Given the description of an element on the screen output the (x, y) to click on. 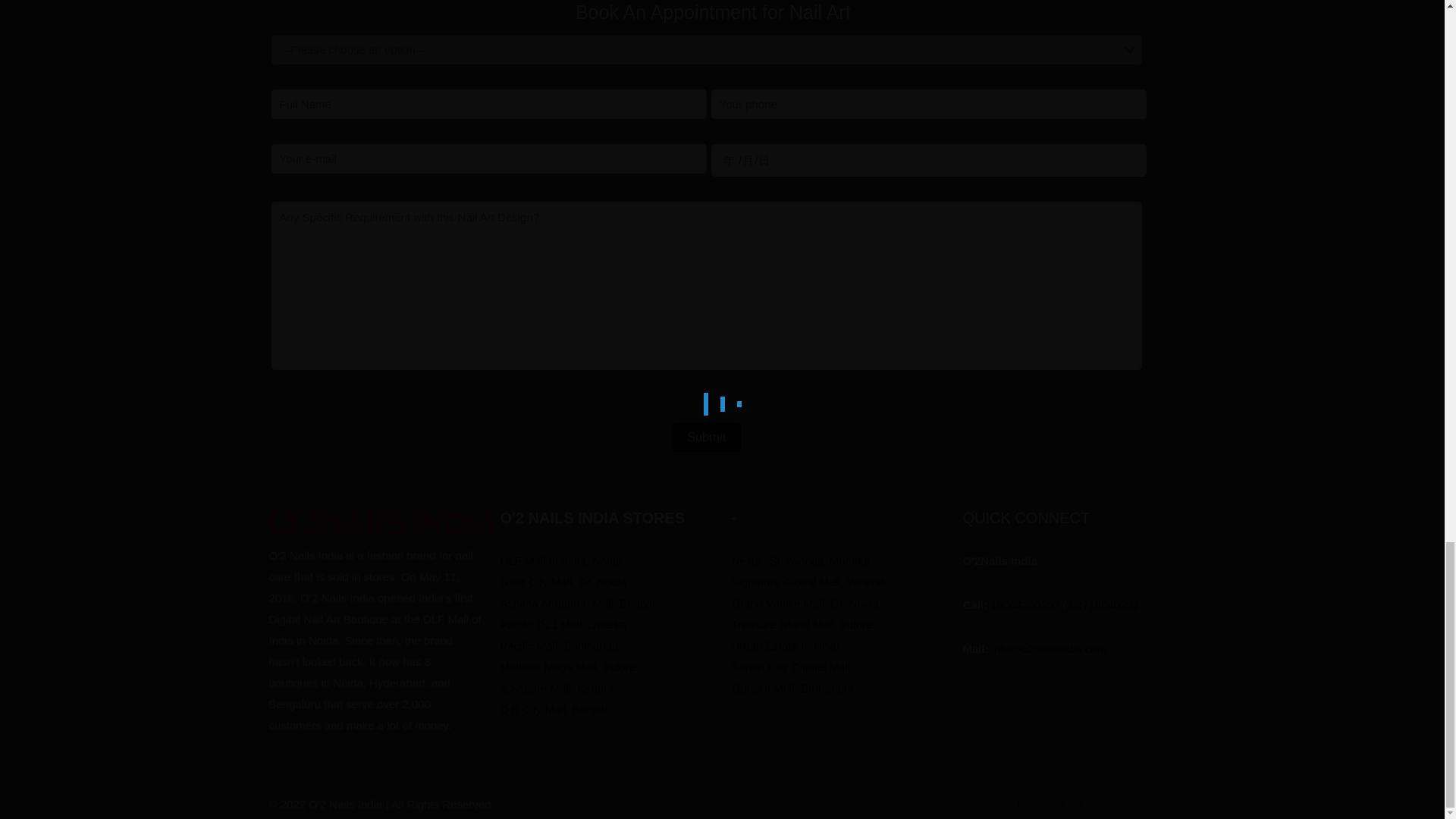
WhatsApp (1019, 803)
Instagram (1101, 803)
Submit (706, 437)
Pinterest (1081, 803)
Facebook (1040, 803)
LinkedIn (1060, 803)
